Given the description of an element on the screen output the (x, y) to click on. 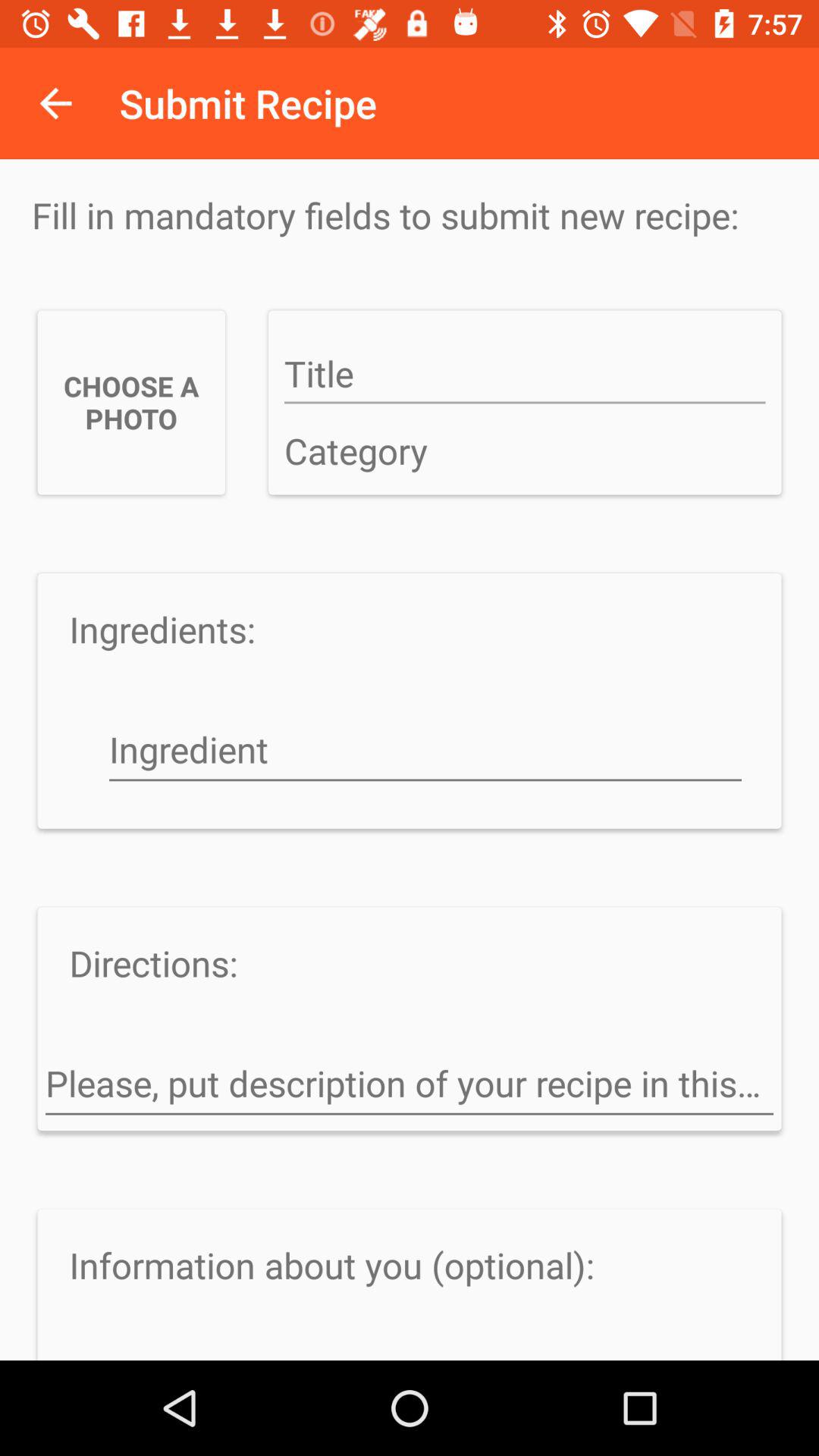
enter text (524, 374)
